Given the description of an element on the screen output the (x, y) to click on. 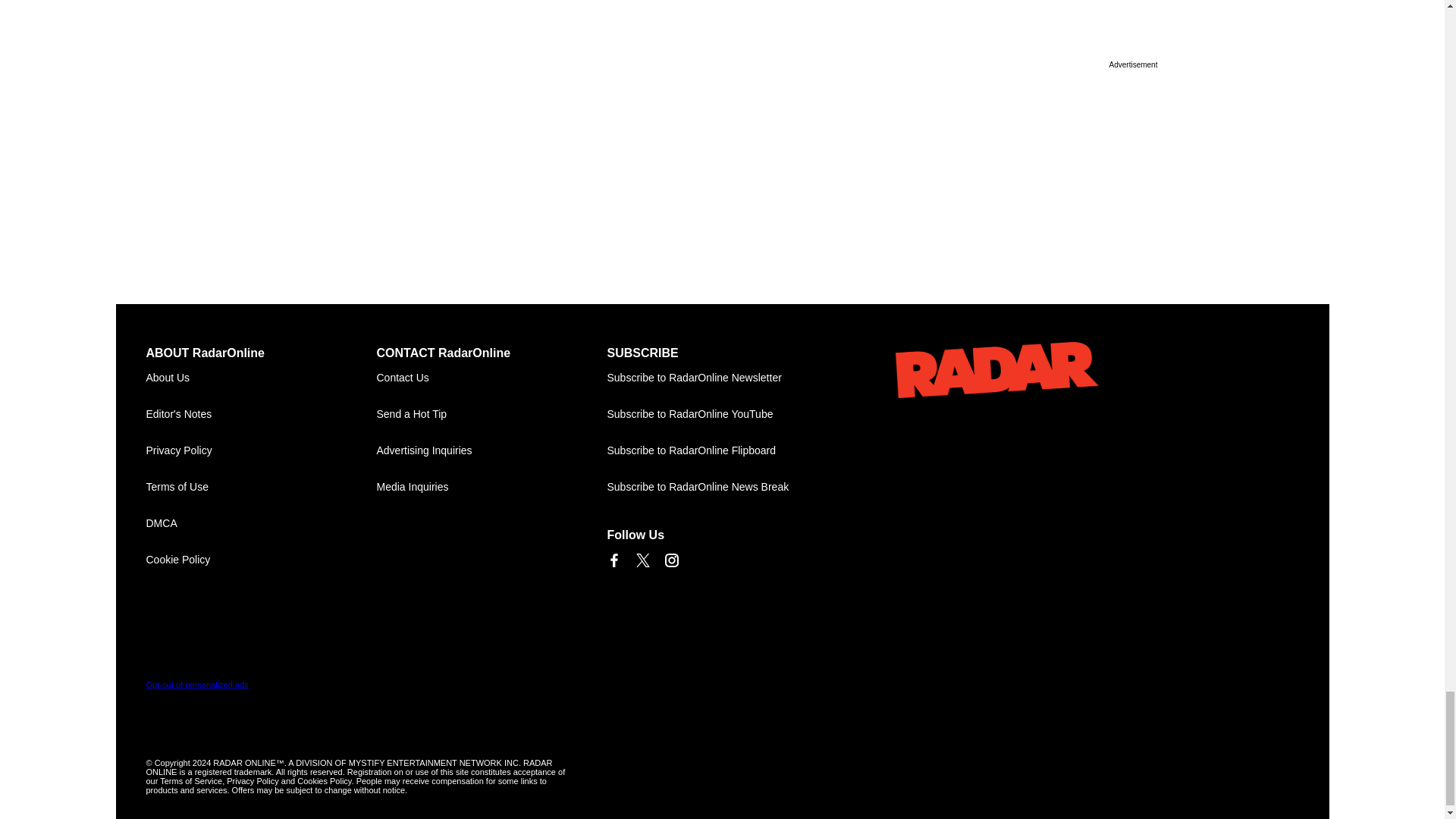
Send a Hot Tip (491, 414)
Subscribe (722, 378)
Link to Facebook (613, 560)
Link to Instagram (670, 560)
Privacy Policy (260, 451)
About Us (260, 378)
Send a Hot Tip (491, 414)
Link to X (641, 560)
Cookie Policy (260, 560)
Advertising Inquiries (491, 451)
